Given the description of an element on the screen output the (x, y) to click on. 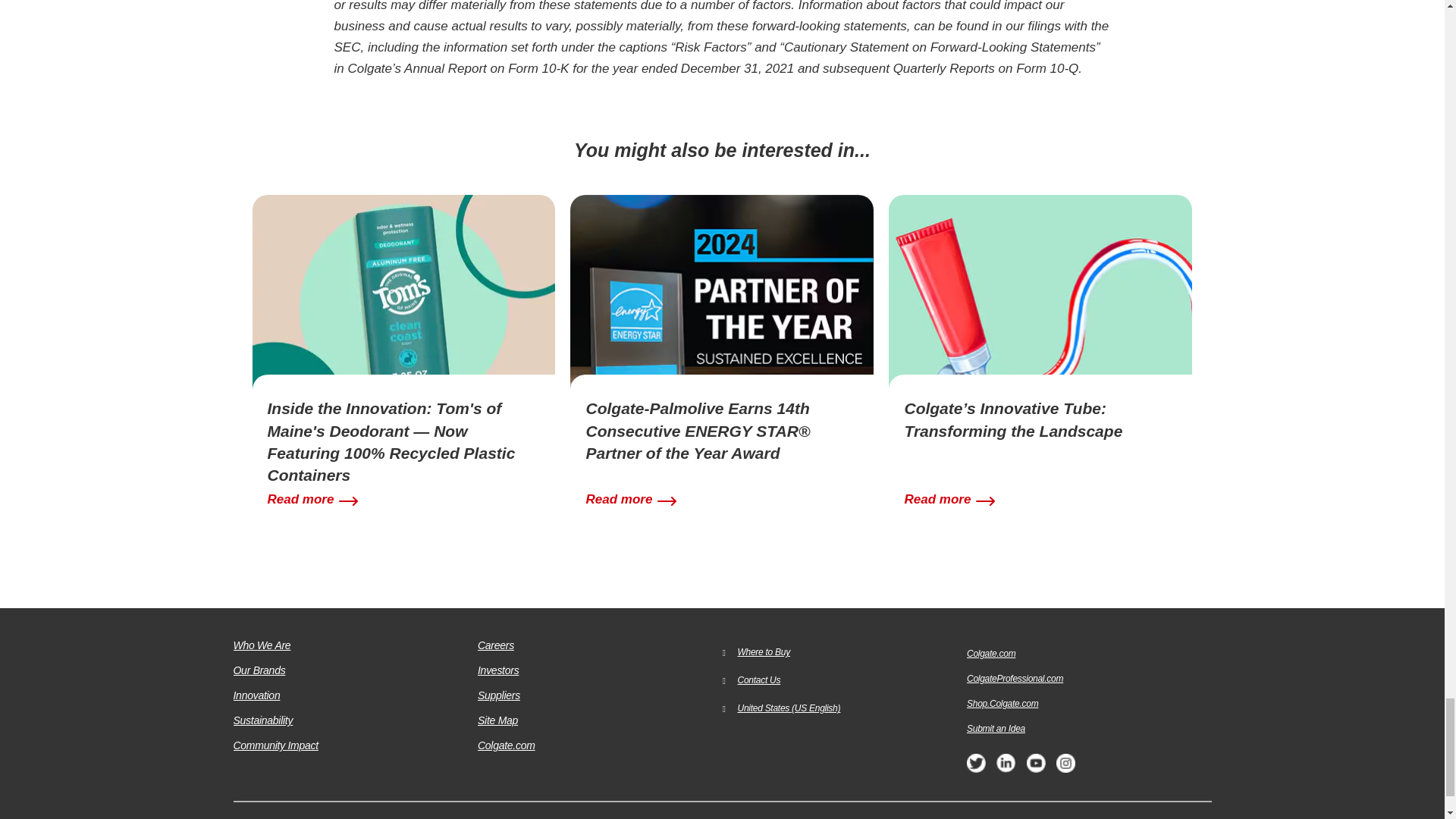
Instagram (1066, 768)
twitter (975, 768)
linkedin (1004, 768)
YouTube (1035, 768)
